Given the description of an element on the screen output the (x, y) to click on. 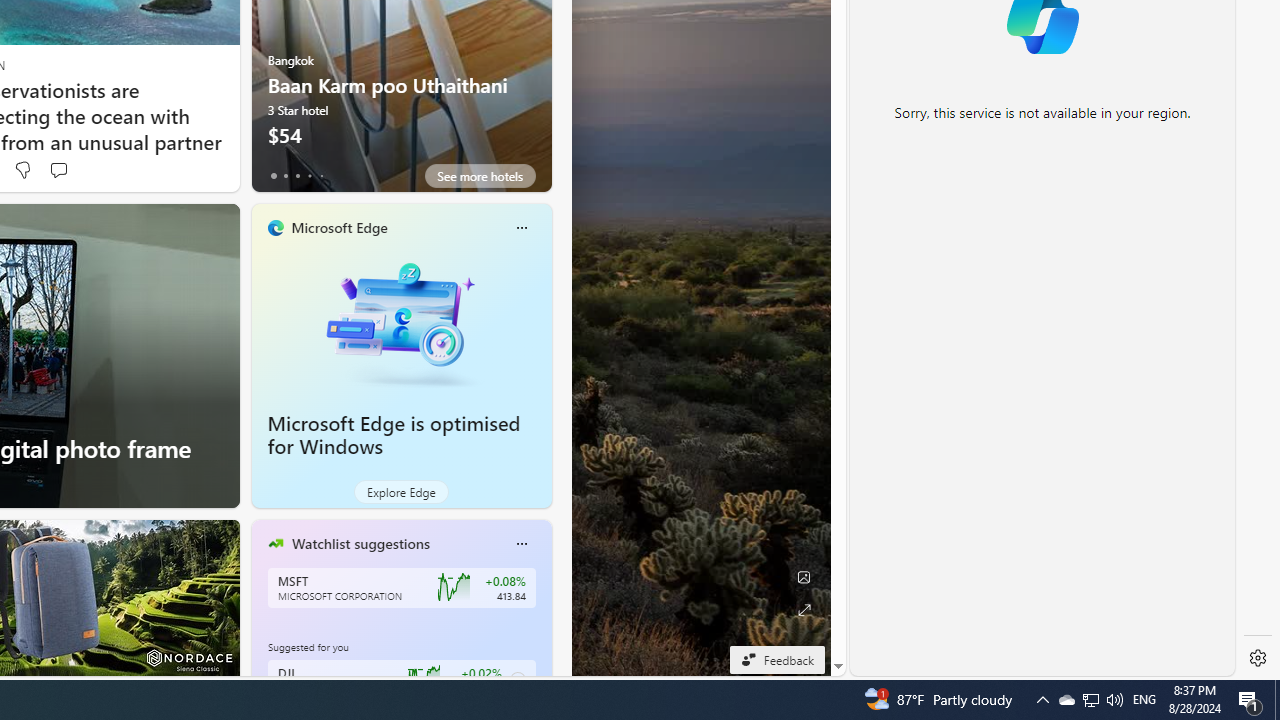
Class: follow-button  m (517, 679)
Explore Edge (401, 491)
Microsoft Edge (338, 227)
tab-2 (297, 175)
Microsoft Edge is optimised for Windows (401, 321)
tab-3 (309, 175)
